Given the description of an element on the screen output the (x, y) to click on. 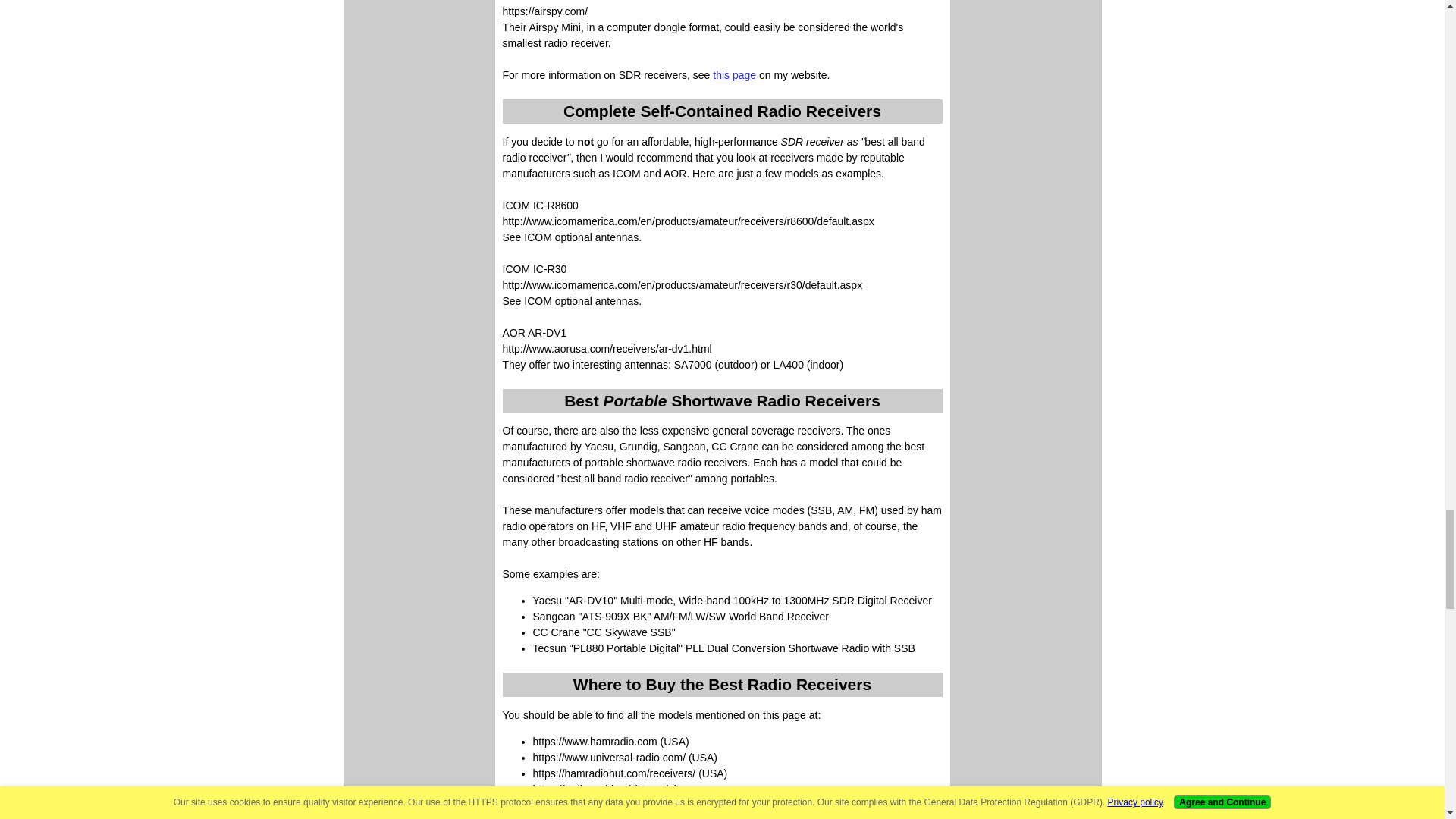
this page (734, 74)
